Given the description of an element on the screen output the (x, y) to click on. 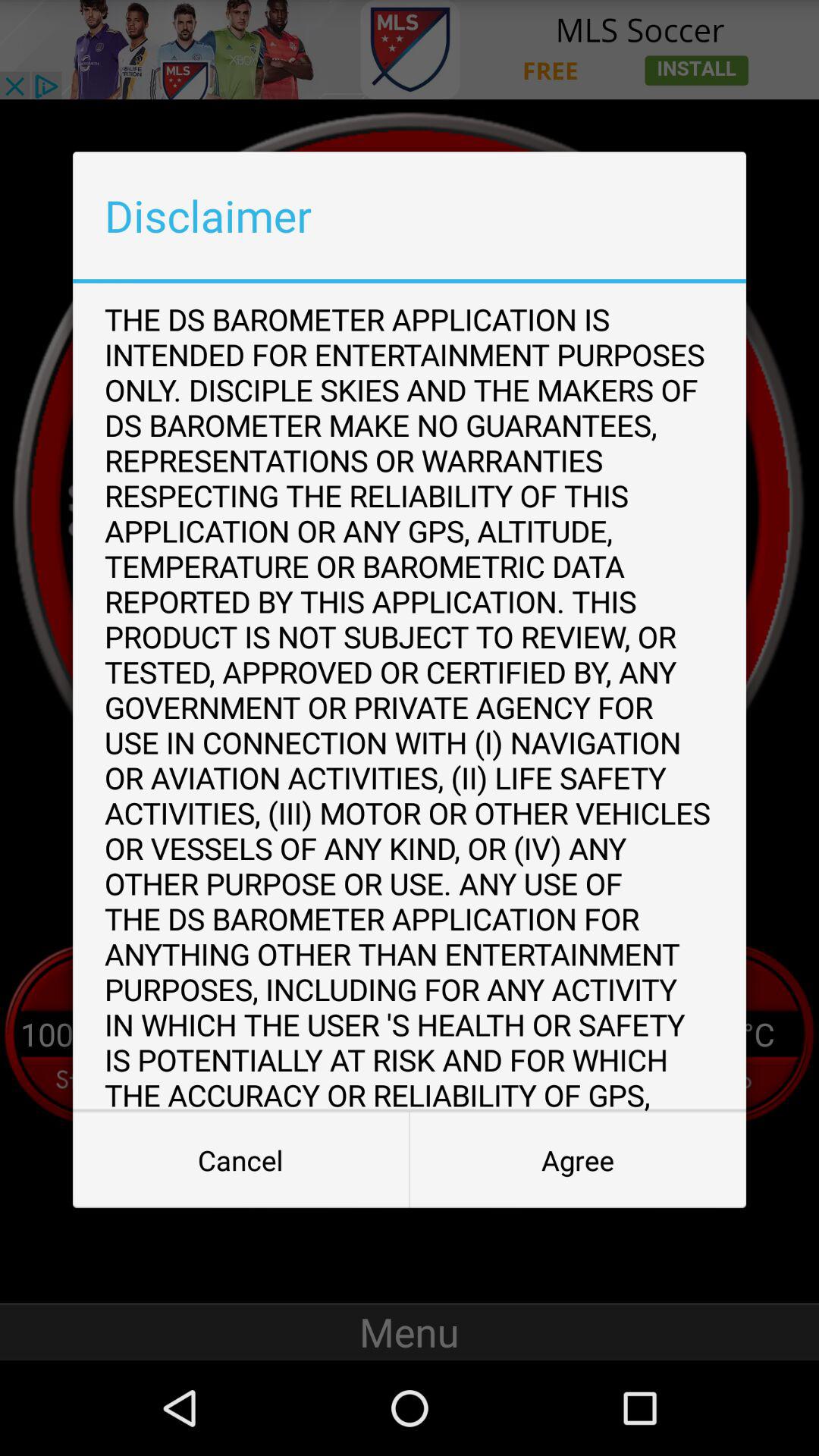
turn off the app below the the ds barometer (578, 1160)
